Given the description of an element on the screen output the (x, y) to click on. 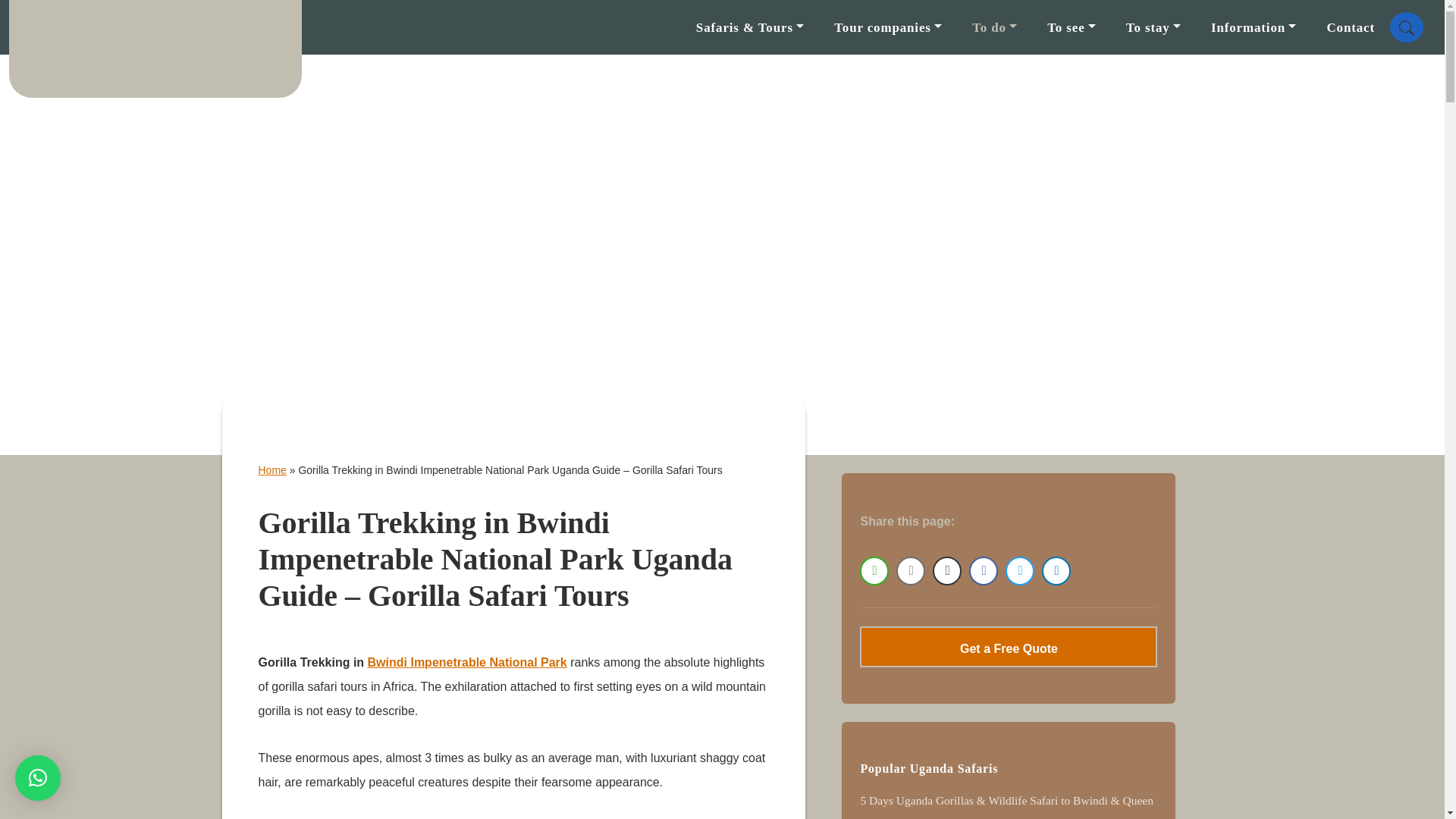
To see (1071, 27)
To do (994, 27)
Tour companies (887, 27)
